Given the description of an element on the screen output the (x, y) to click on. 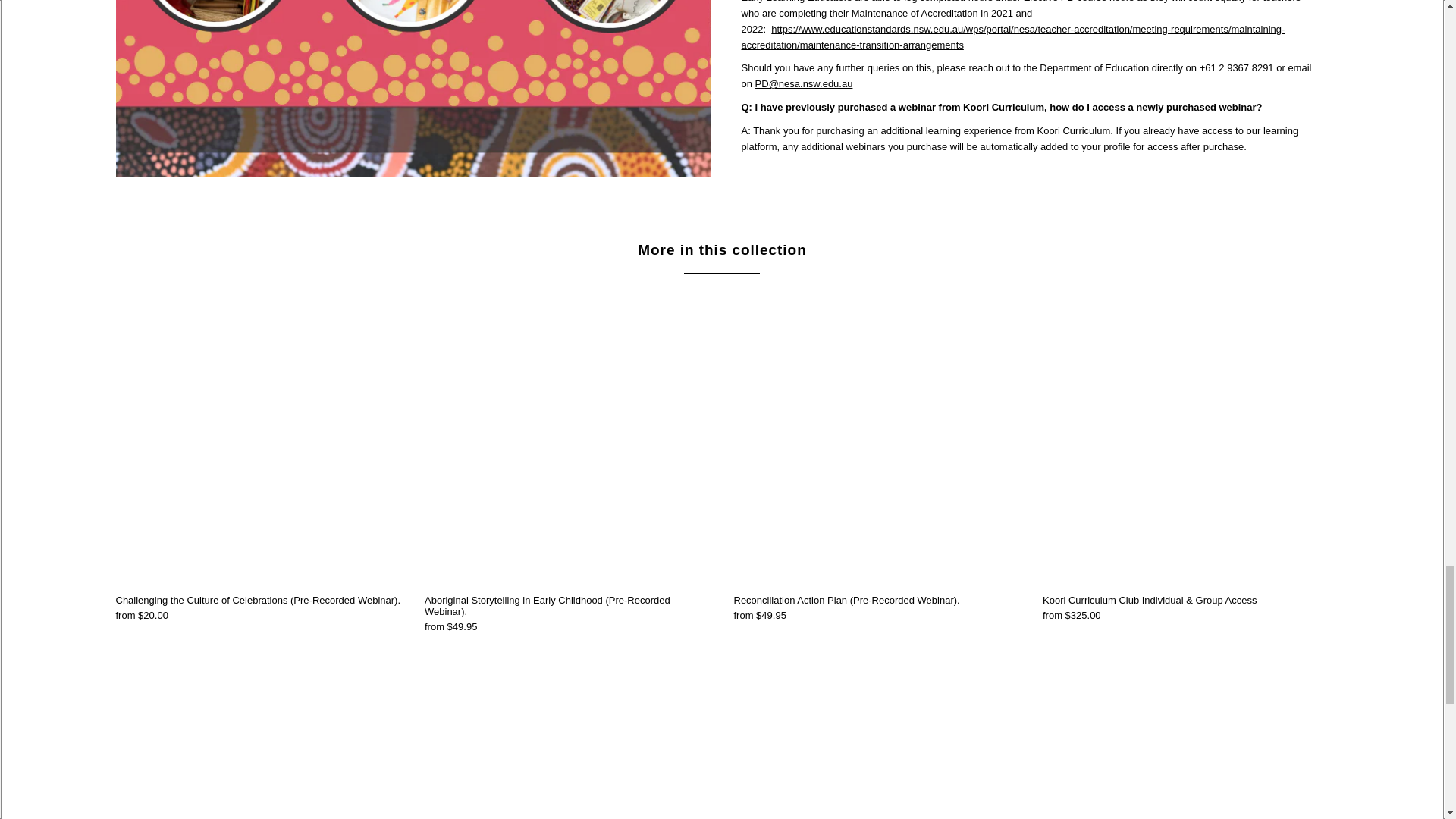
Family Day Care 10-Day Challenge (1185, 749)
